Given the description of an element on the screen output the (x, y) to click on. 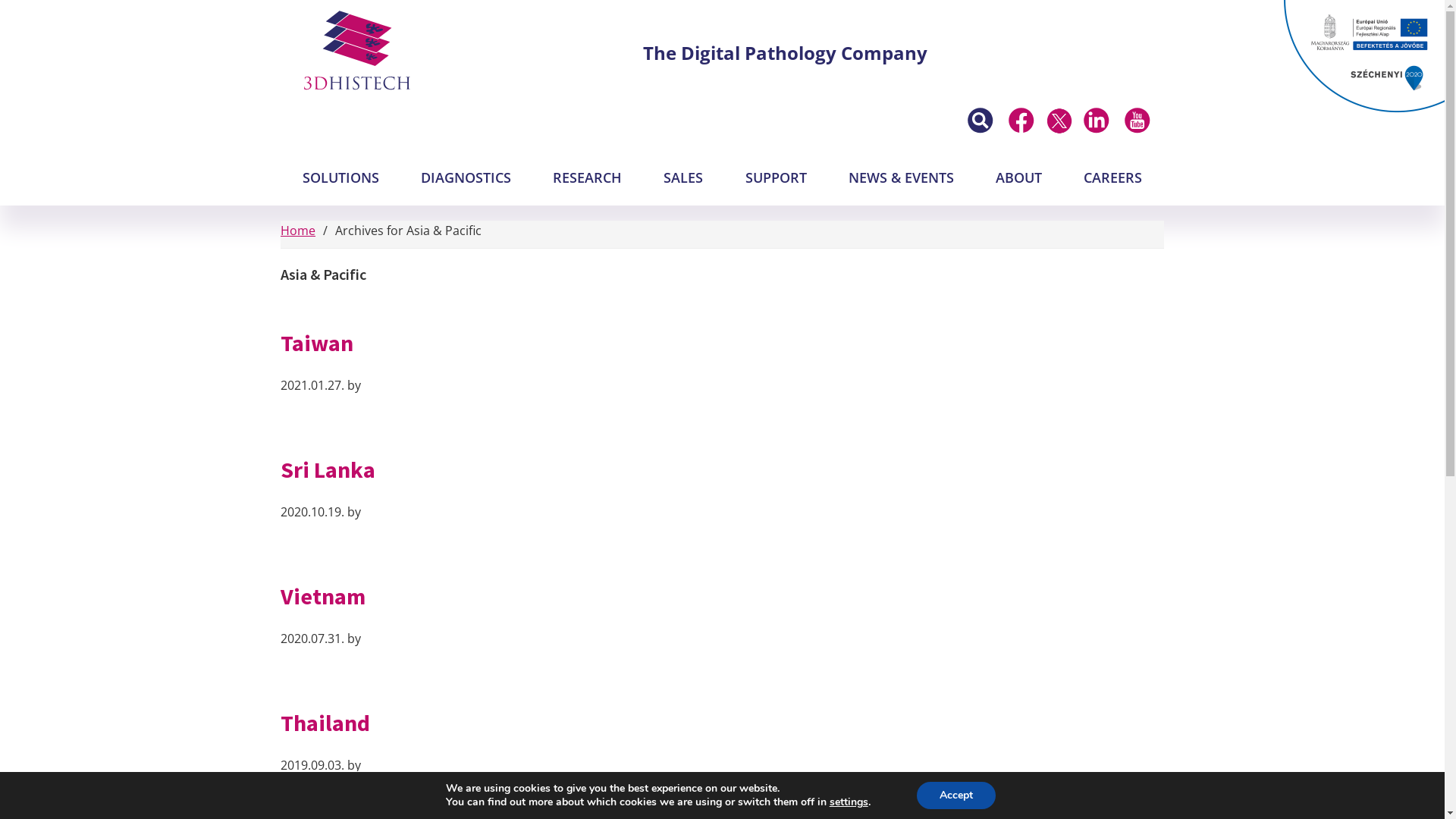
Sri Lanka Element type: text (327, 469)
SUPPORT Element type: text (776, 178)
SALES Element type: text (683, 178)
settings Element type: text (848, 802)
ABOUT Element type: text (1018, 178)
CAREERS Element type: text (1112, 178)
Thailand Element type: text (325, 722)
Accept Element type: text (955, 795)
DIAGNOSTICS Element type: text (465, 178)
SOLUTIONS Element type: text (339, 178)
Vietnam Element type: text (322, 595)
Home Element type: text (297, 230)
NEWS & EVENTS Element type: text (901, 178)
Skip to primary navigation Element type: text (0, 0)
RESEARCH Element type: text (586, 178)
Taiwan Element type: text (316, 342)
